Given the description of an element on the screen output the (x, y) to click on. 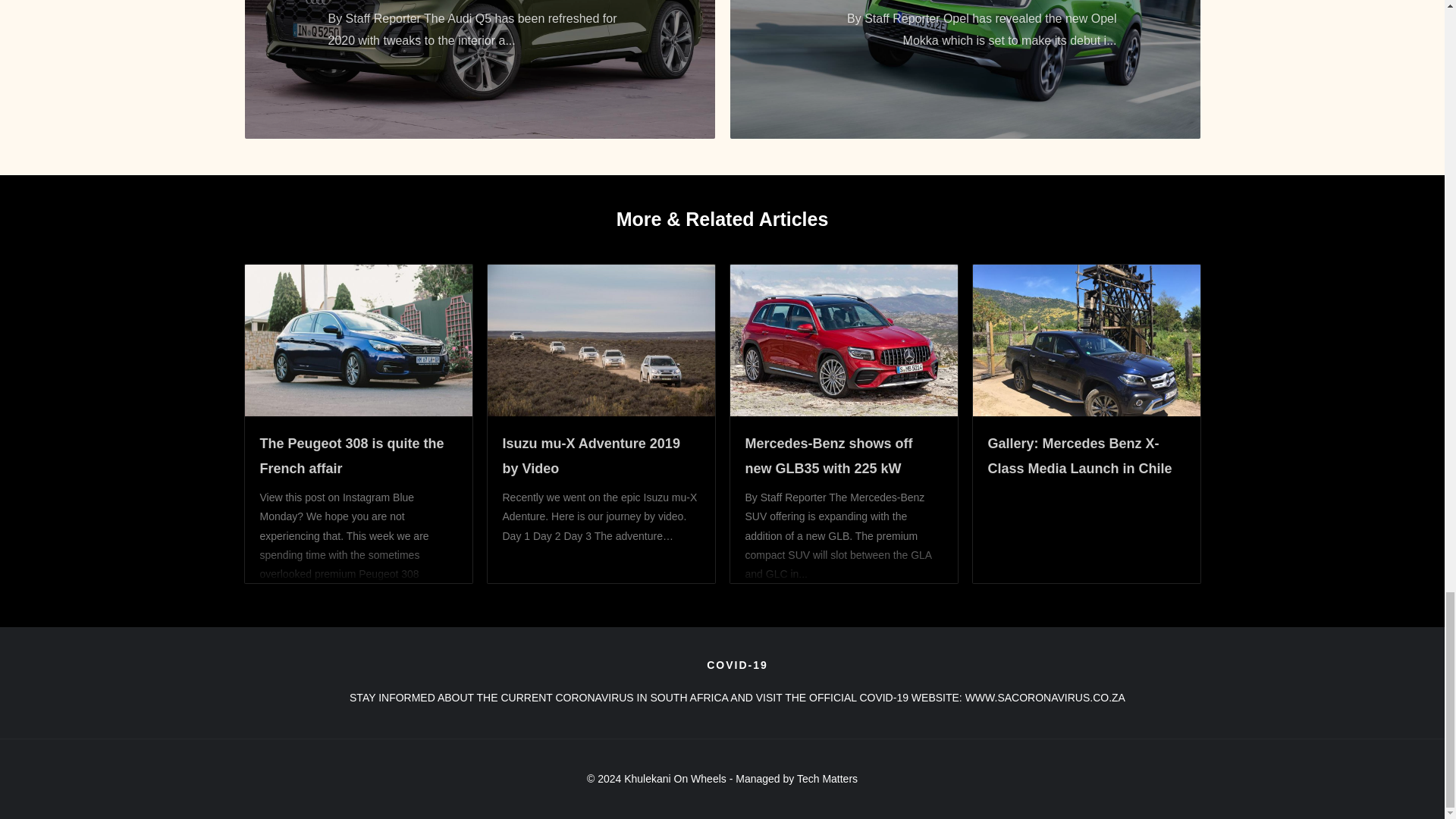
Tech Matters (826, 778)
